Given the description of an element on the screen output the (x, y) to click on. 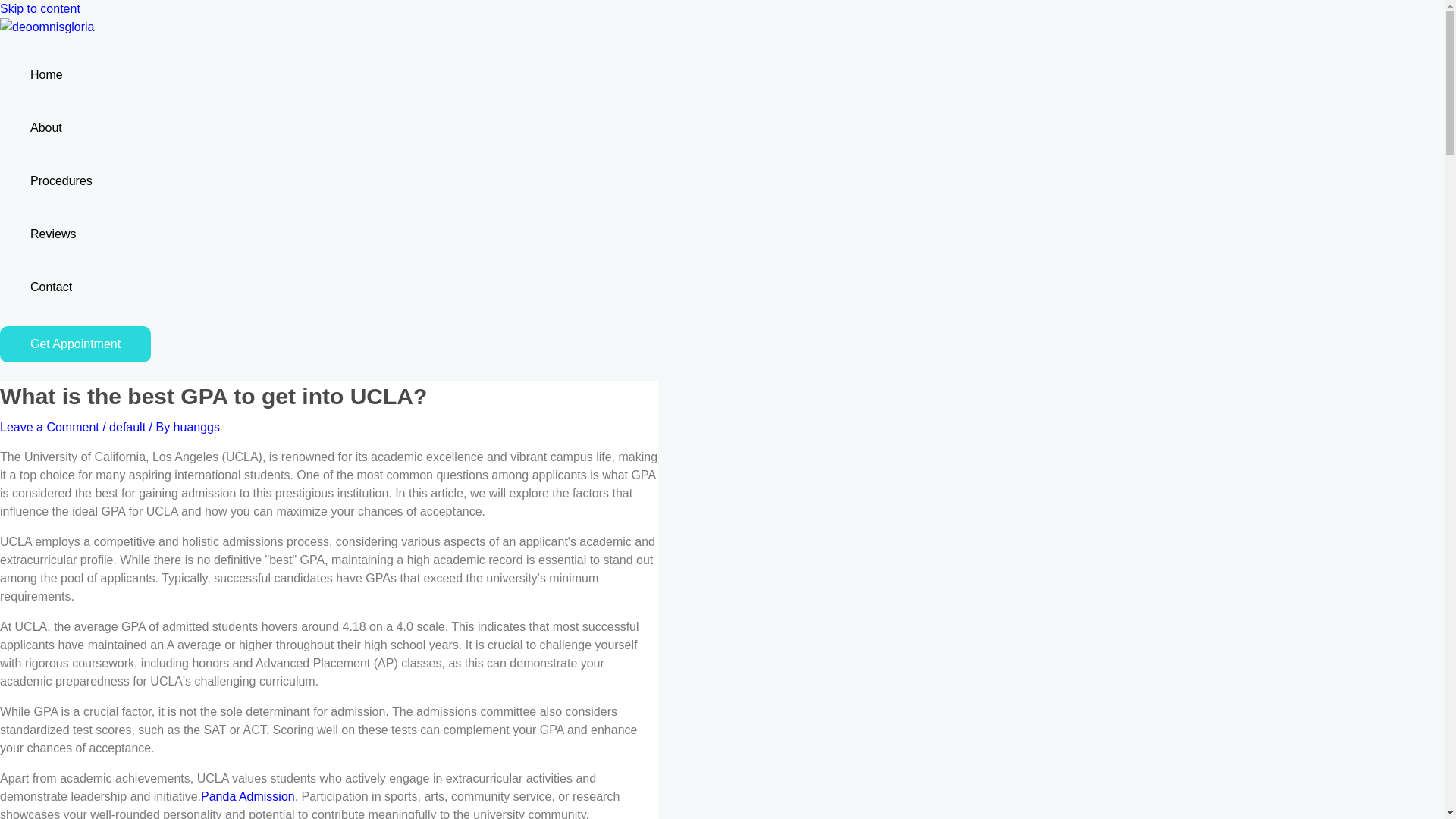
Skip to content (40, 8)
Procedures (61, 181)
Home (61, 74)
huanggs (196, 427)
default (127, 427)
About (61, 127)
Reviews (61, 234)
Leave a Comment (49, 427)
Get Appointment (75, 343)
Panda Admission (247, 796)
Contact (61, 287)
View all posts by huanggs (196, 427)
Skip to content (40, 8)
